Given the description of an element on the screen output the (x, y) to click on. 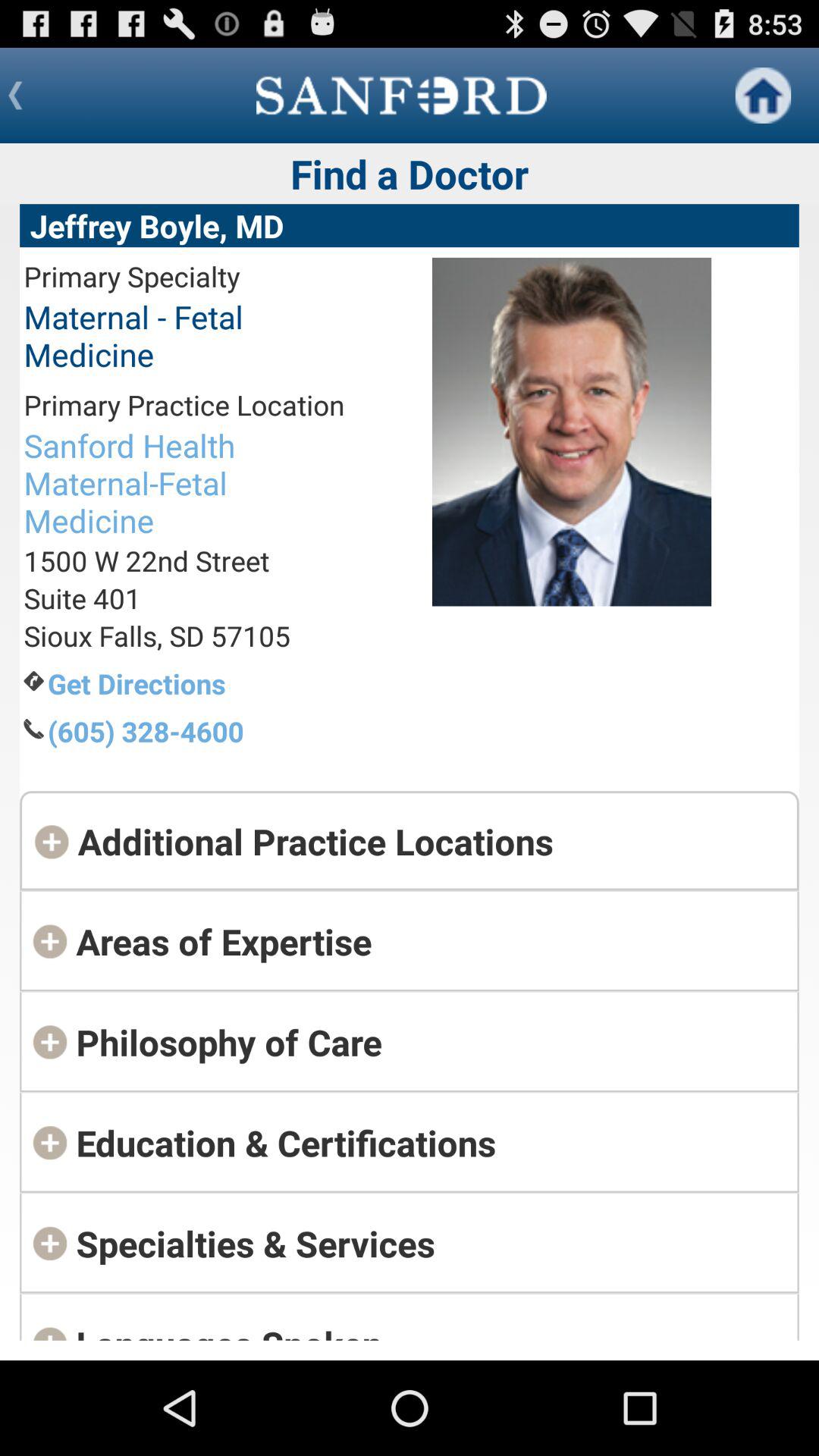
jump until (605) 328-4600 item (195, 731)
